Given the description of an element on the screen output the (x, y) to click on. 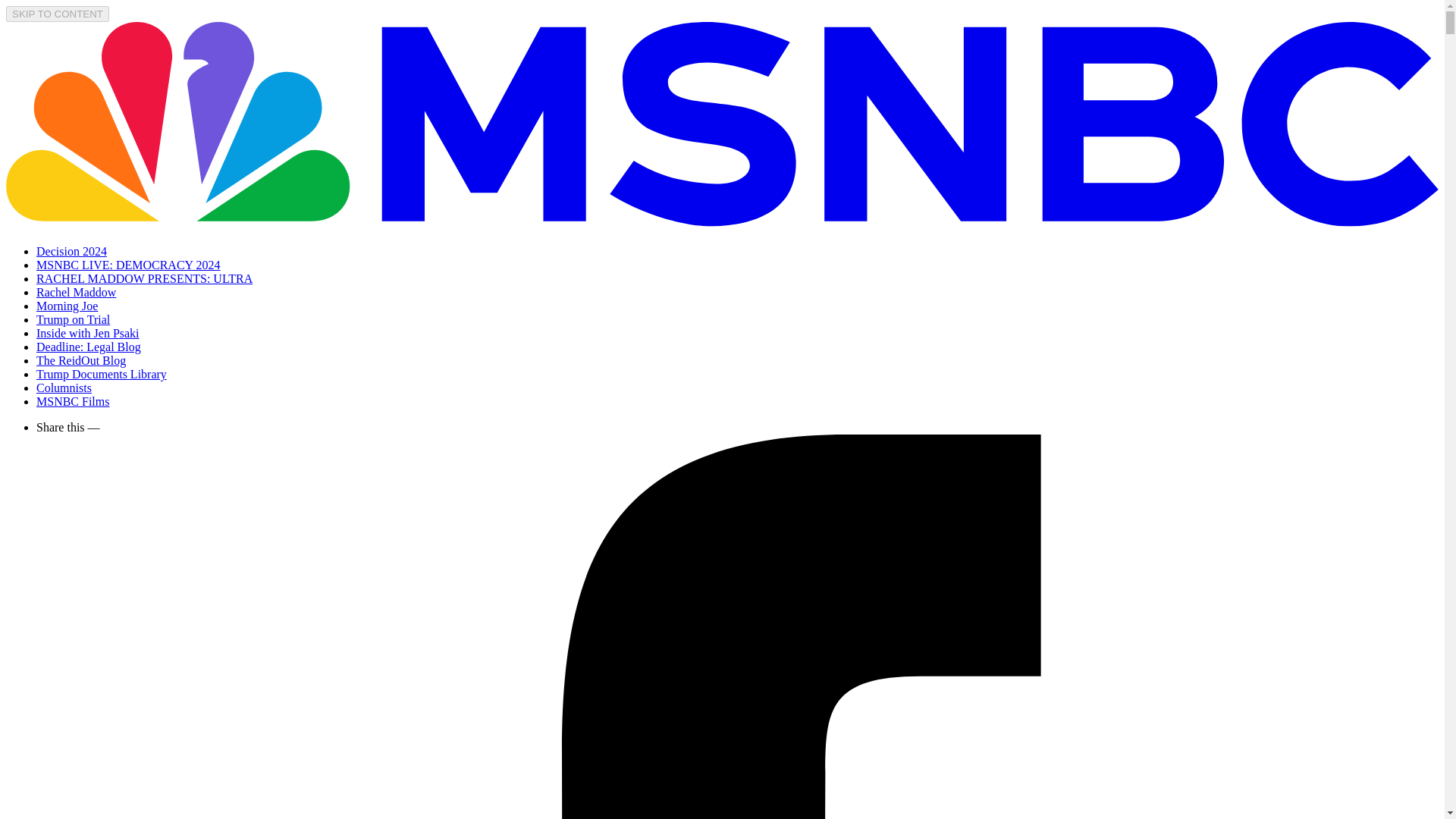
Columnists (63, 387)
Trump Documents Library (101, 373)
Decision 2024 (71, 250)
Rachel Maddow (76, 291)
Trump on Trial (73, 318)
Inside with Jen Psaki (87, 332)
Deadline: Legal Blog (88, 346)
MSNBC Films (72, 400)
MSNBC LIVE: DEMOCRACY 2024 (128, 264)
Morning Joe (66, 305)
